Given the description of an element on the screen output the (x, y) to click on. 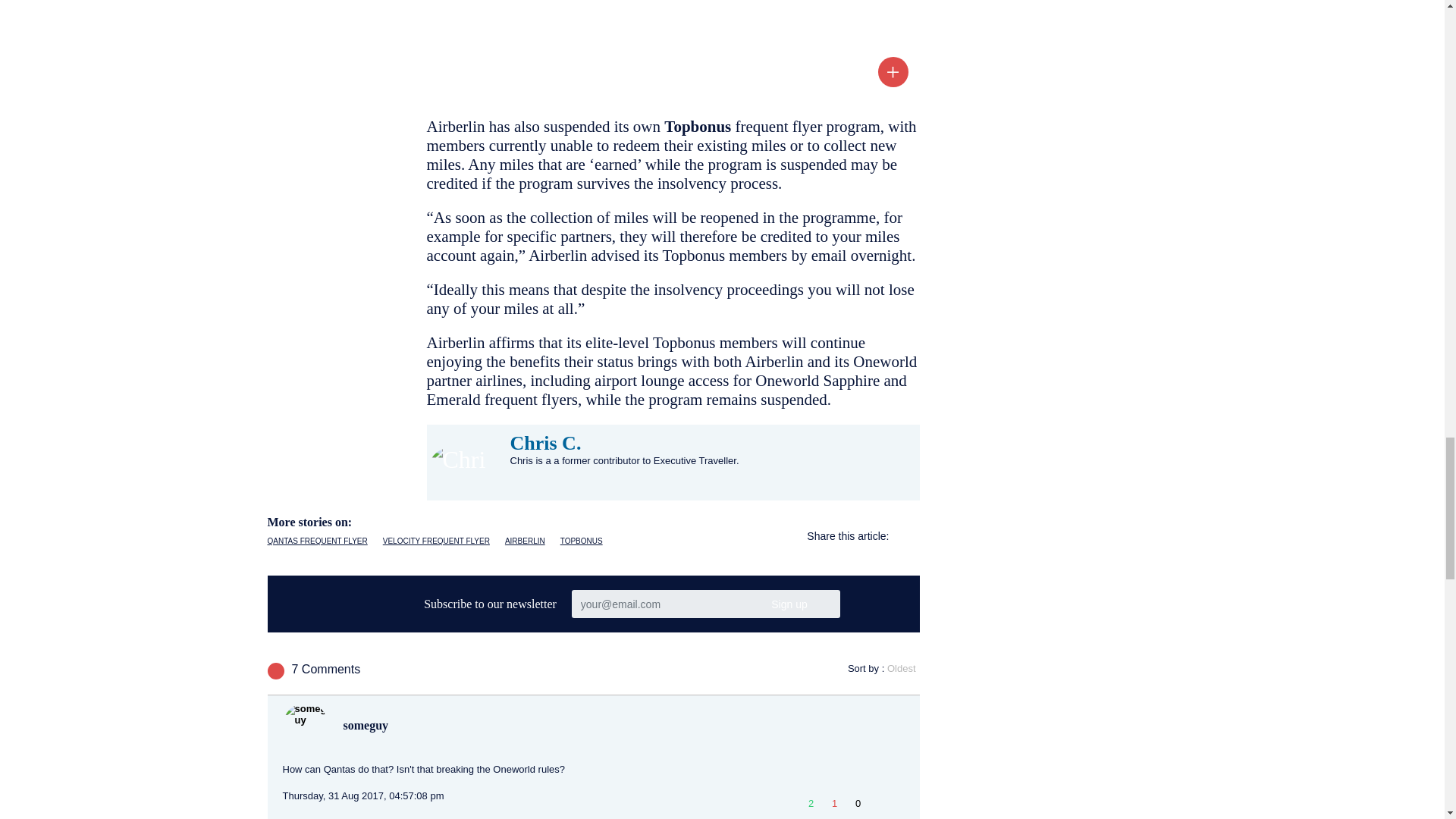
Like (810, 803)
Report this post (896, 806)
Reply this post (878, 806)
Thank someguy for this helpful post (857, 803)
Dislike (834, 803)
